Given the description of an element on the screen output the (x, y) to click on. 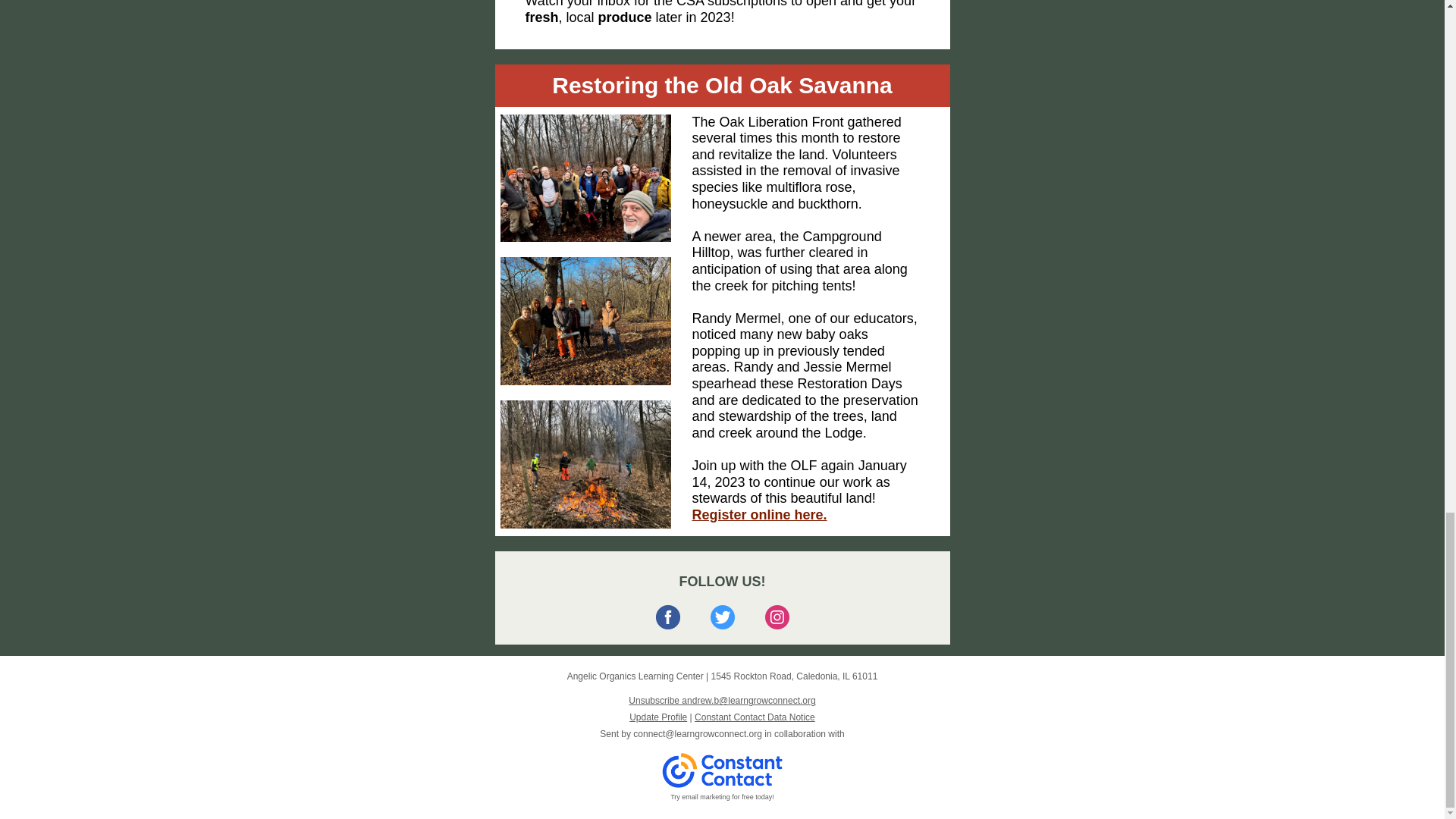
Try email marketing for free today! (721, 796)
Register online here. (759, 514)
Update Profile (657, 716)
Constant Contact Data Notice (754, 716)
